Given the description of an element on the screen output the (x, y) to click on. 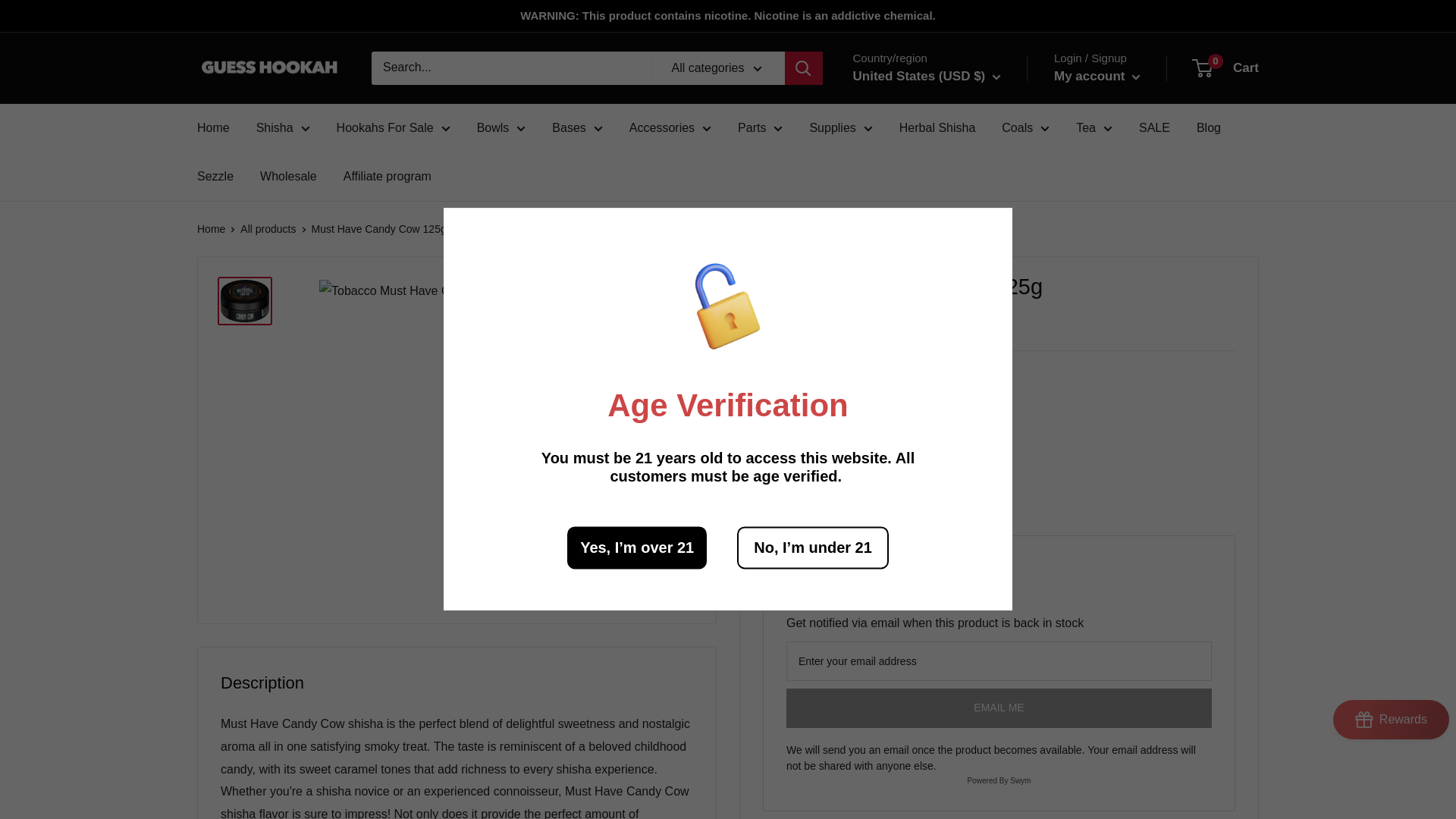
Increase quantity by 1 (921, 430)
1 (881, 430)
Decrease quantity by 1 (841, 430)
